Given the description of an element on the screen output the (x, y) to click on. 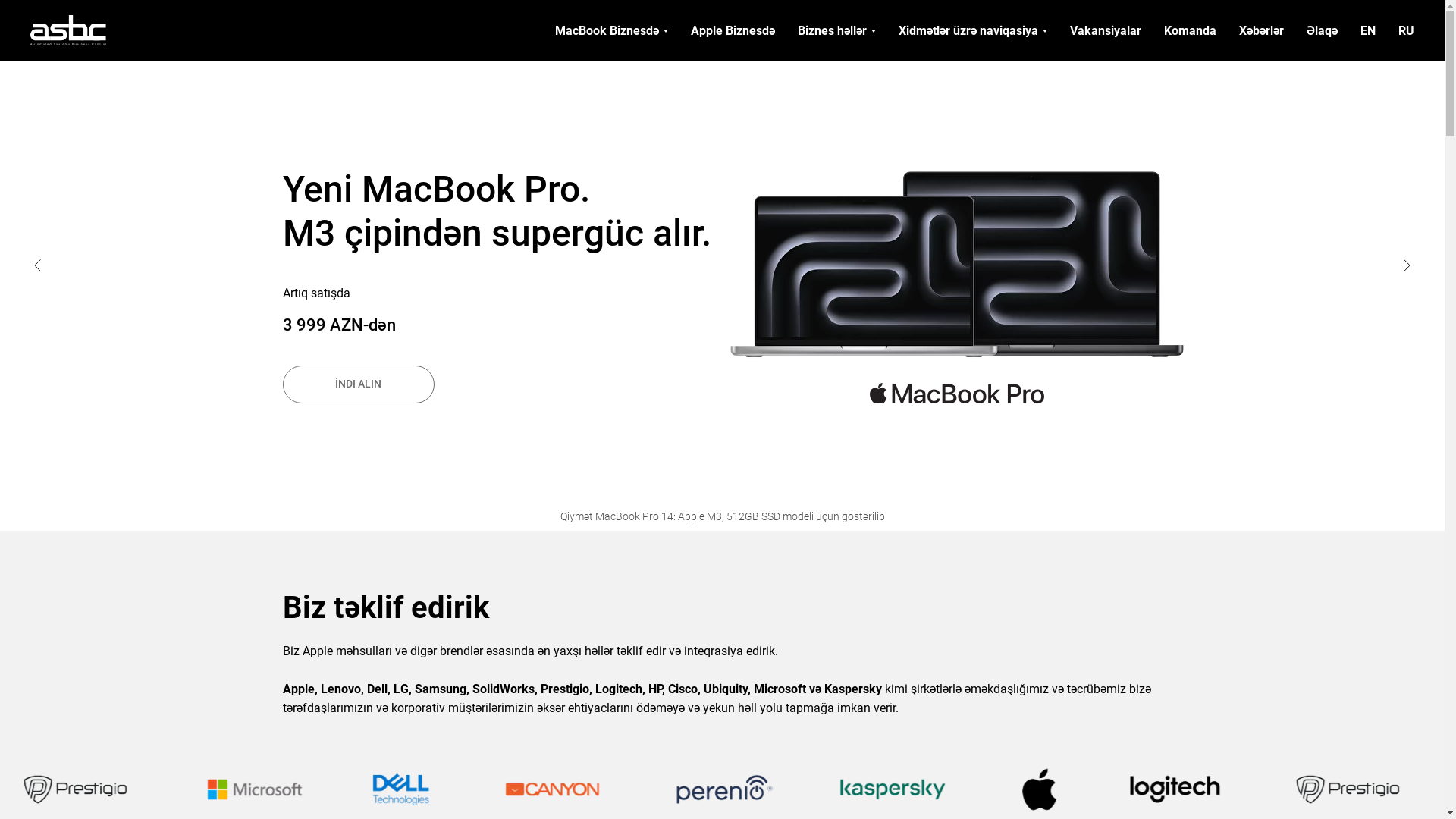
Komanda Element type: text (1190, 29)
Vakansiyalar Element type: text (1105, 29)
RU Element type: text (1406, 29)
EN Element type: text (1367, 29)
